Given the description of an element on the screen output the (x, y) to click on. 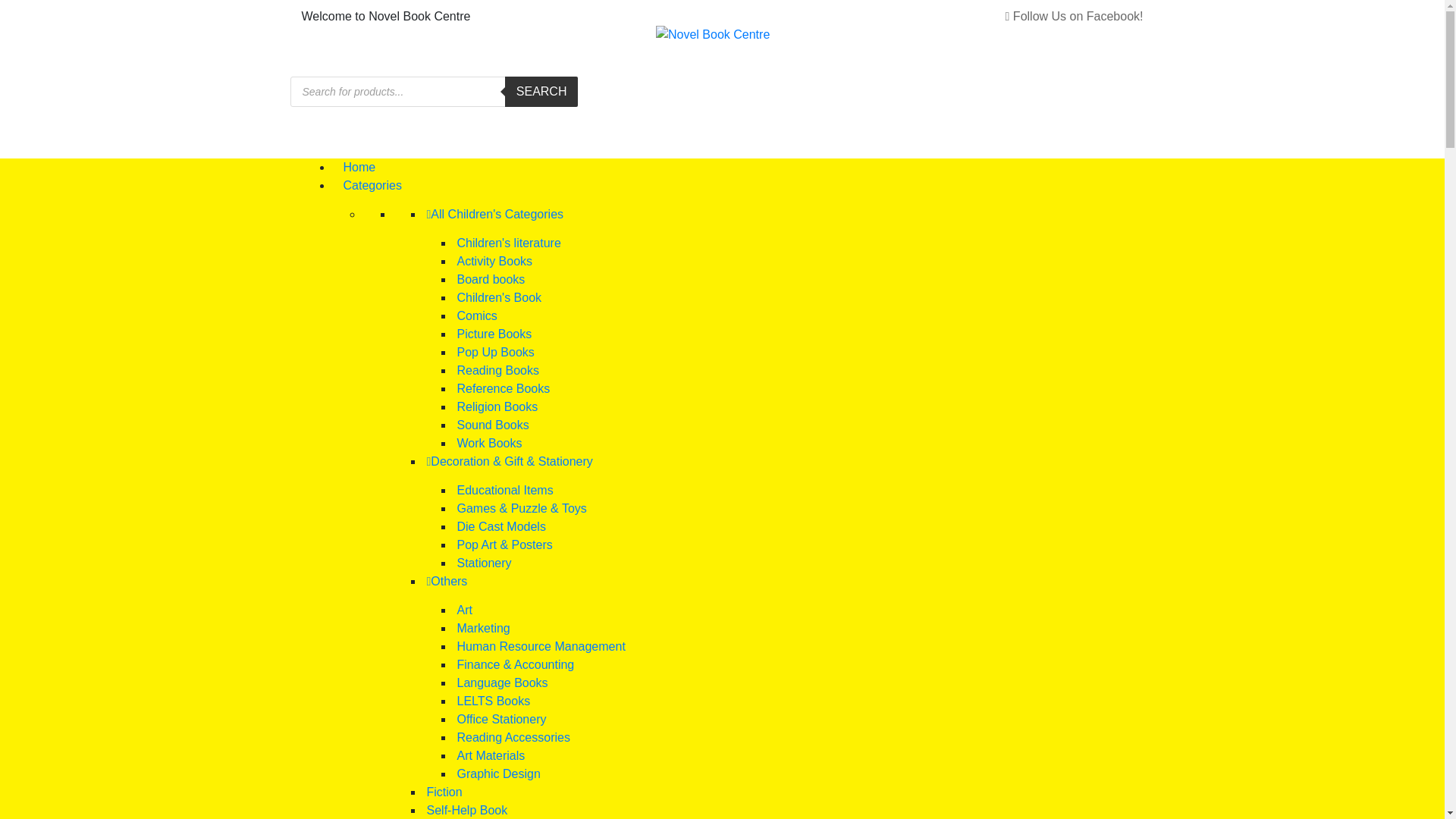
Office Stationery (501, 719)
Sound Books (492, 424)
Children's literature (508, 242)
Comics (476, 315)
Work Books (488, 443)
Novel Book Centre (646, 165)
Marketing (482, 628)
Others (447, 580)
Reference Books (503, 388)
LELTS Books (493, 701)
